Given the description of an element on the screen output the (x, y) to click on. 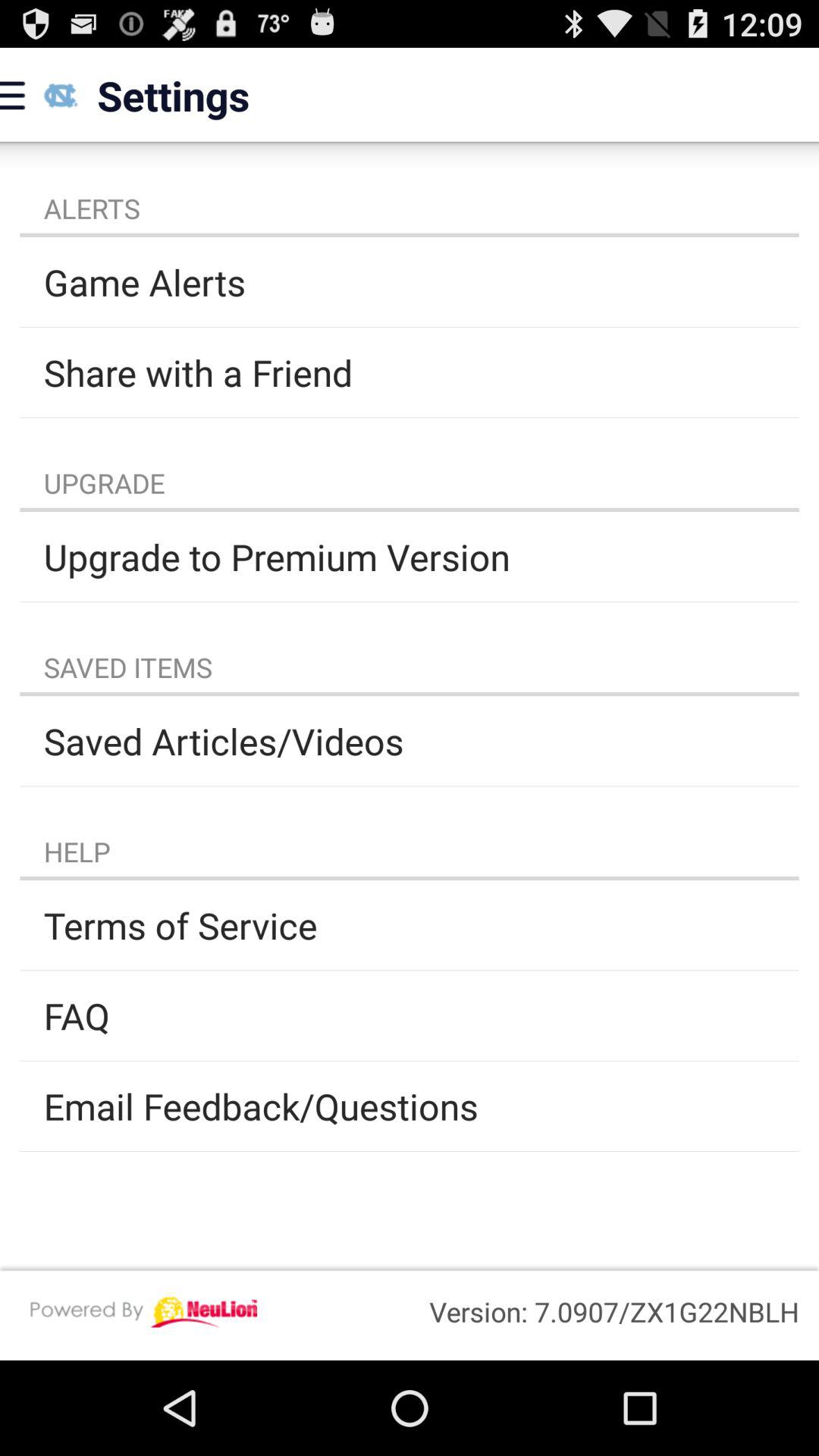
jump until faq item (409, 1015)
